Given the description of an element on the screen output the (x, y) to click on. 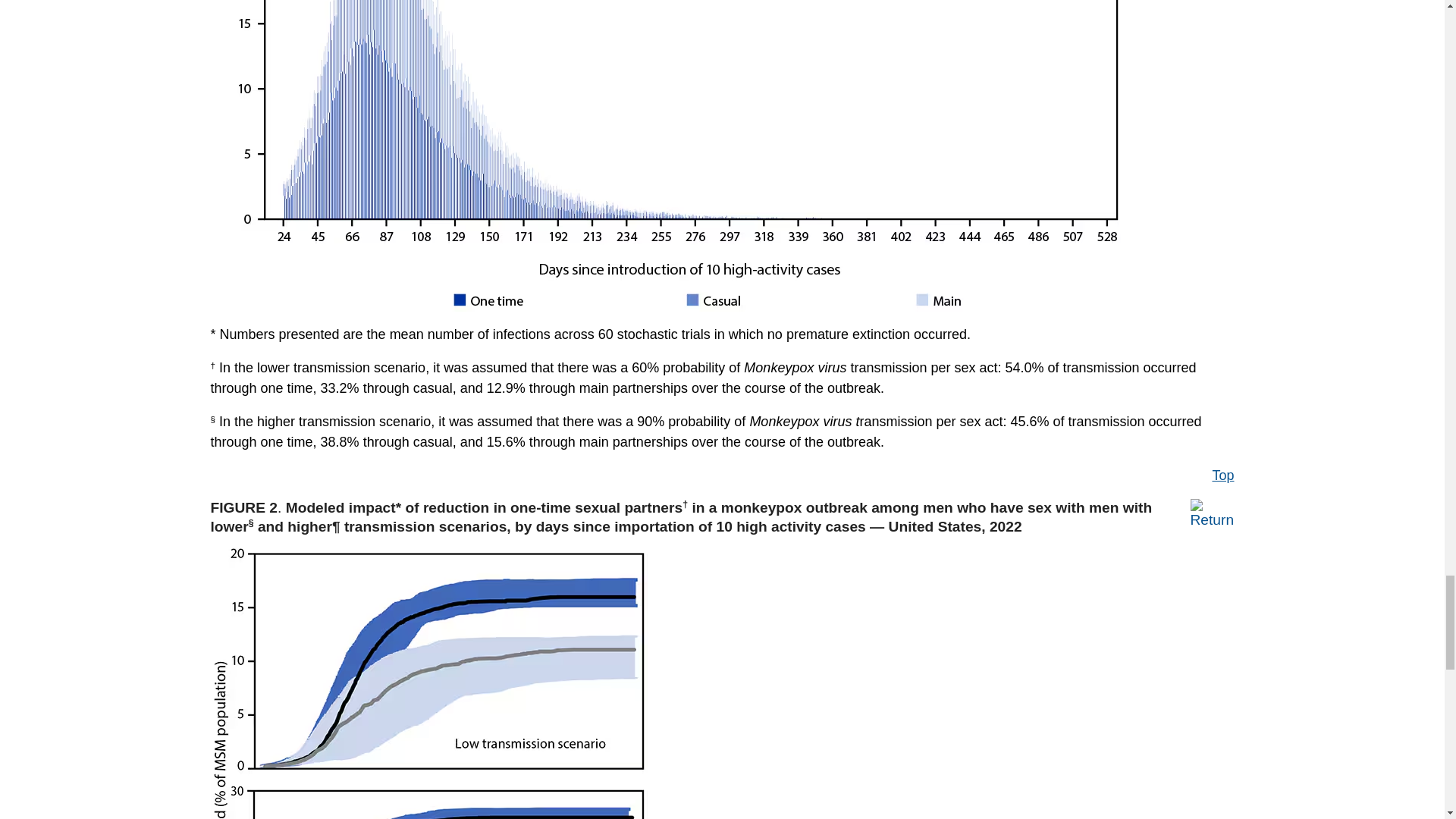
Return to your place in the text (1212, 511)
